Given the description of an element on the screen output the (x, y) to click on. 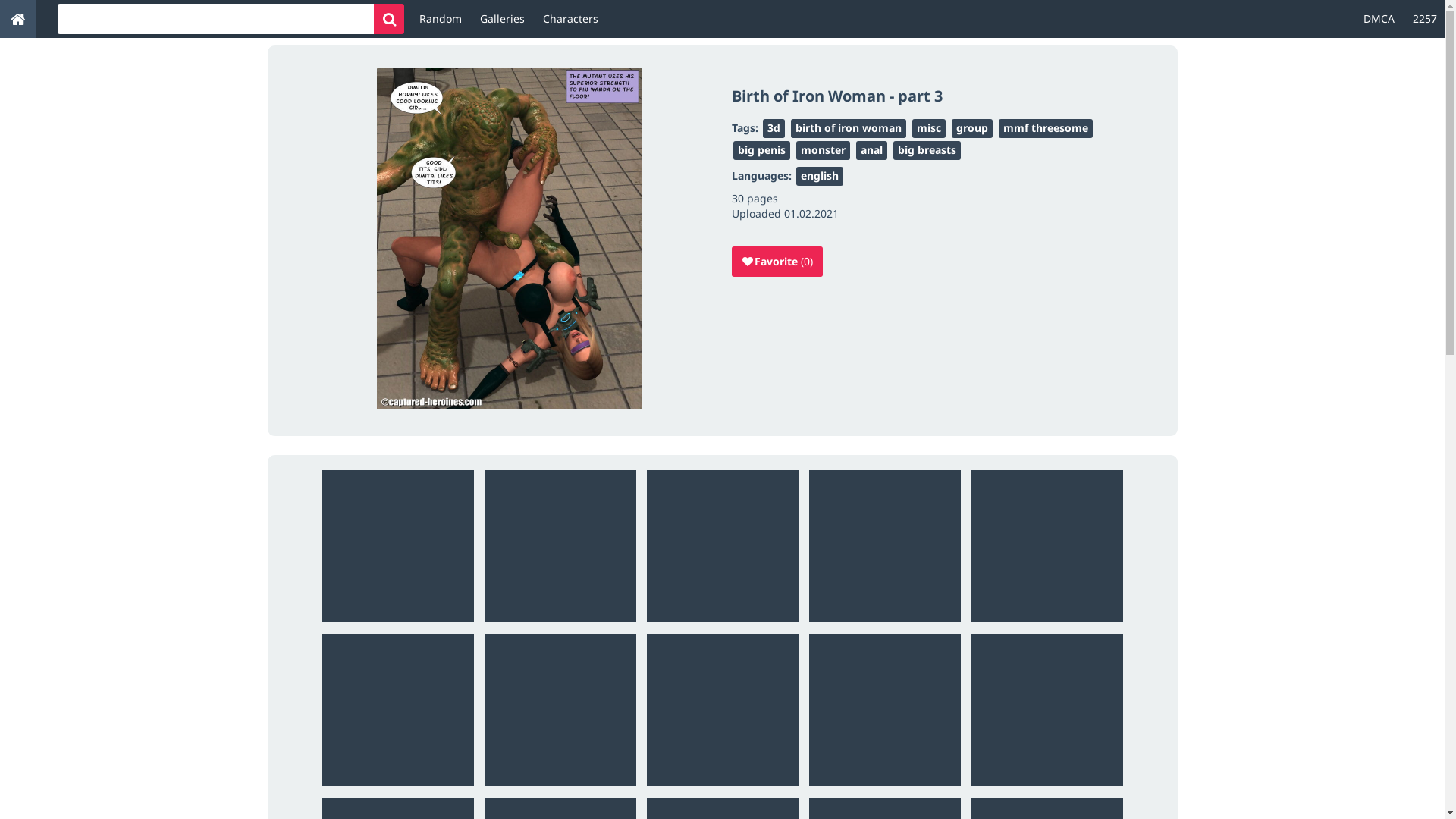
2257 Element type: text (1424, 18)
Page 2 Element type: hover (559, 544)
misc Element type: text (927, 128)
big penis Element type: text (760, 150)
anal Element type: text (870, 150)
Page 9 Element type: hover (883, 708)
Page 8 Element type: hover (721, 708)
group Element type: text (970, 128)
Galleries Element type: text (502, 18)
birth of iron woman Element type: text (847, 128)
Page 3 Element type: hover (721, 544)
Page 6 Element type: hover (397, 708)
Page 1 Element type: hover (397, 544)
View Birth of Iron Woman - part 3 Element type: hover (509, 240)
Random Element type: text (440, 18)
home Element type: hover (17, 18)
big breasts Element type: text (926, 150)
DMCA Element type: text (1378, 18)
Page 10 Element type: hover (1046, 708)
Favorite (0) Element type: text (776, 261)
3d Element type: text (773, 128)
Page 7 Element type: hover (559, 708)
Page 4 Element type: hover (883, 544)
mmf threesome Element type: text (1044, 128)
english Element type: text (819, 175)
Characters Element type: text (570, 18)
Page 5 Element type: hover (1046, 544)
monster Element type: text (823, 150)
